Given the description of an element on the screen output the (x, y) to click on. 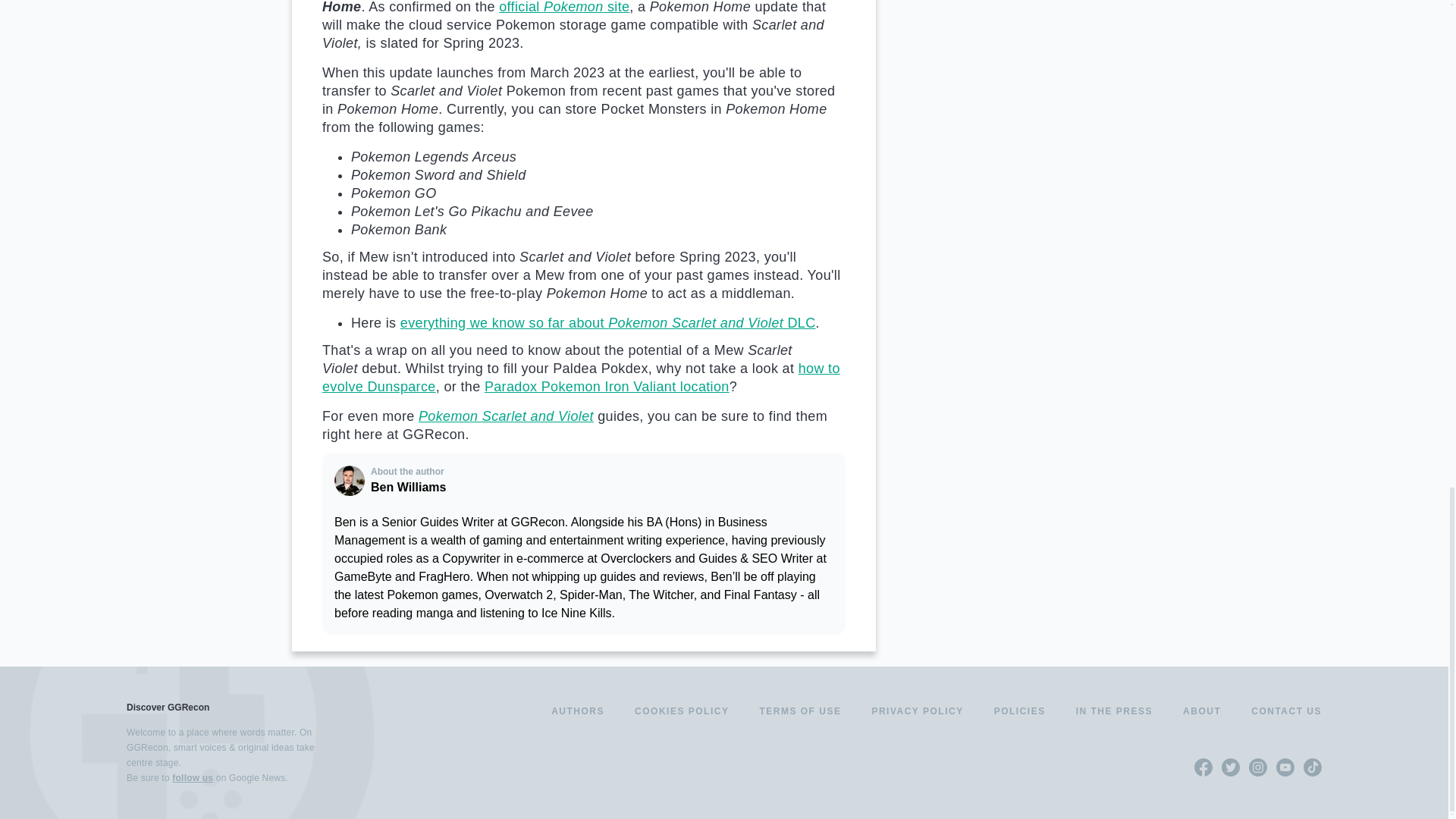
Iron Valiant Location In Pokemon Scarlet And Violet (606, 386)
How To Evolve Dunsparce In Pokemon Scarlet And Violet (580, 377)
Ben Williams (349, 481)
facebookLink (1202, 767)
twitterLink (1230, 767)
